Given the description of an element on the screen output the (x, y) to click on. 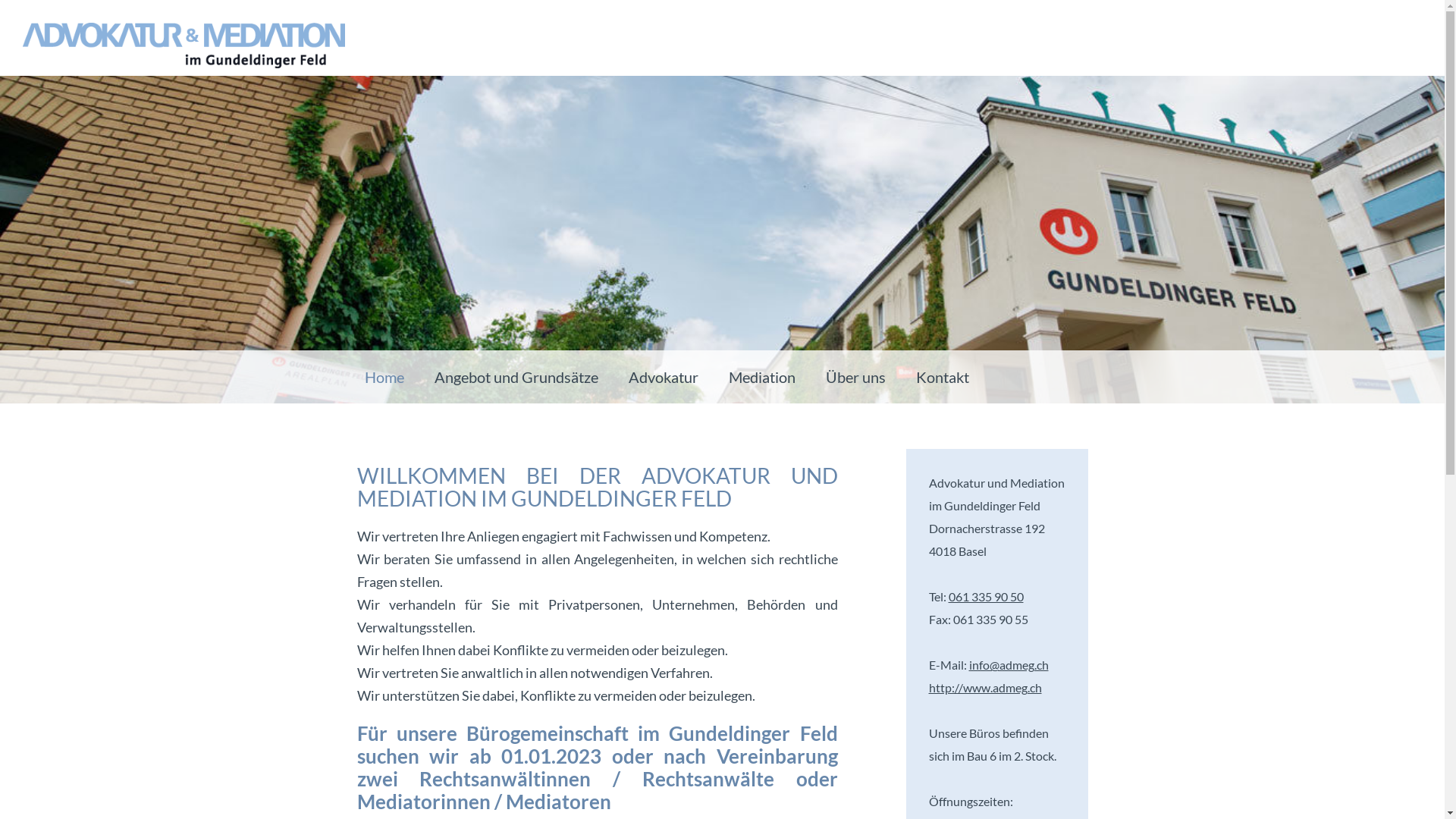
061 335 90 50 Element type: text (984, 596)
Mediation Element type: text (761, 376)
Home Element type: text (383, 376)
Advokatur Element type: text (662, 376)
Kontakt Element type: text (942, 376)
info@admeg.ch Element type: text (1008, 664)
http://www.admeg.ch Element type: text (984, 687)
Admeg AG Element type: hover (183, 45)
